Given the description of an element on the screen output the (x, y) to click on. 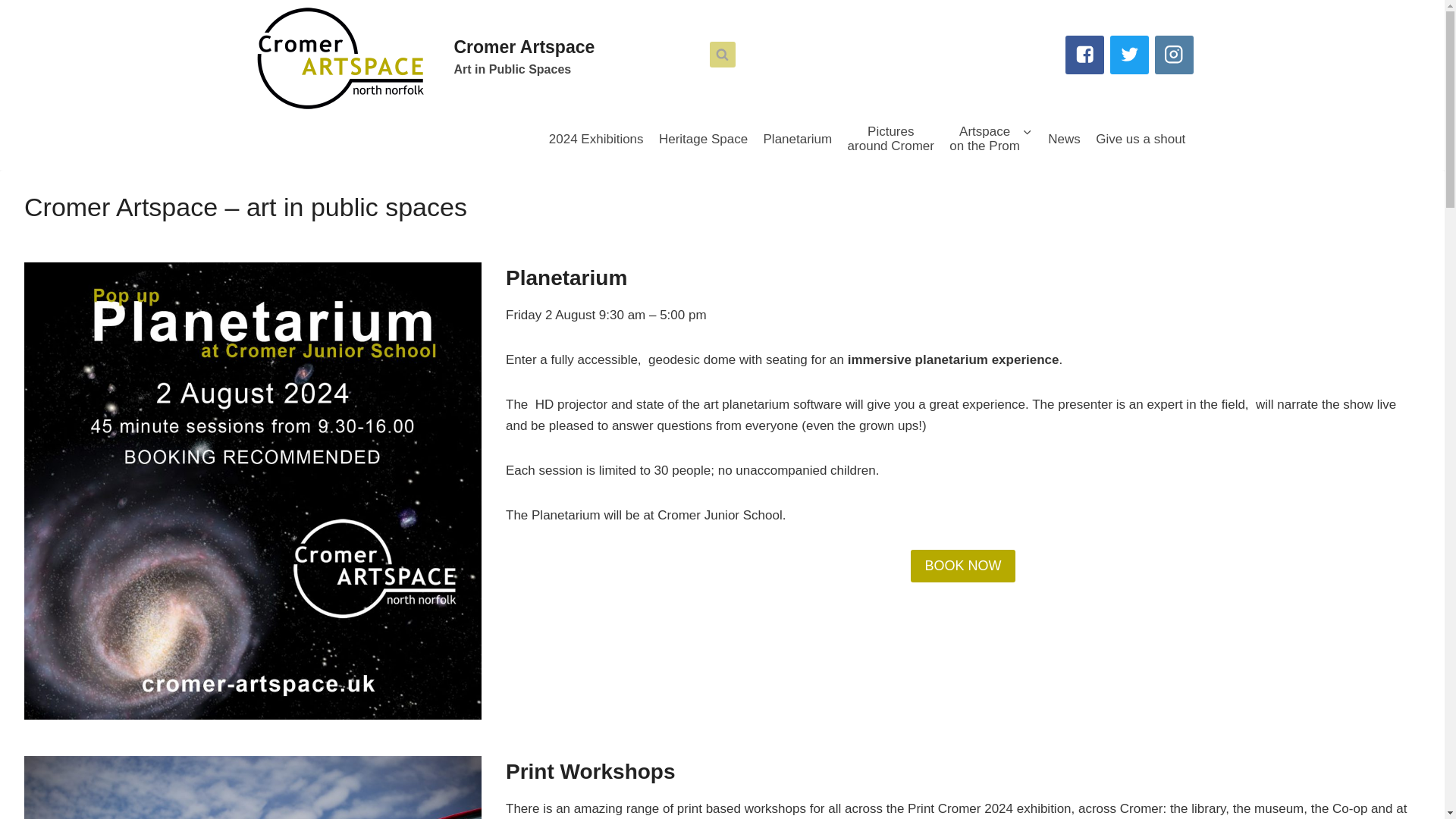
BOOK NOW (962, 565)
Heritage Space (891, 139)
News (702, 138)
Planetarium (1064, 138)
Planetarium (423, 57)
2024 Exhibitions (566, 277)
Give us a shout (797, 138)
Print Workshops (595, 138)
